Given the description of an element on the screen output the (x, y) to click on. 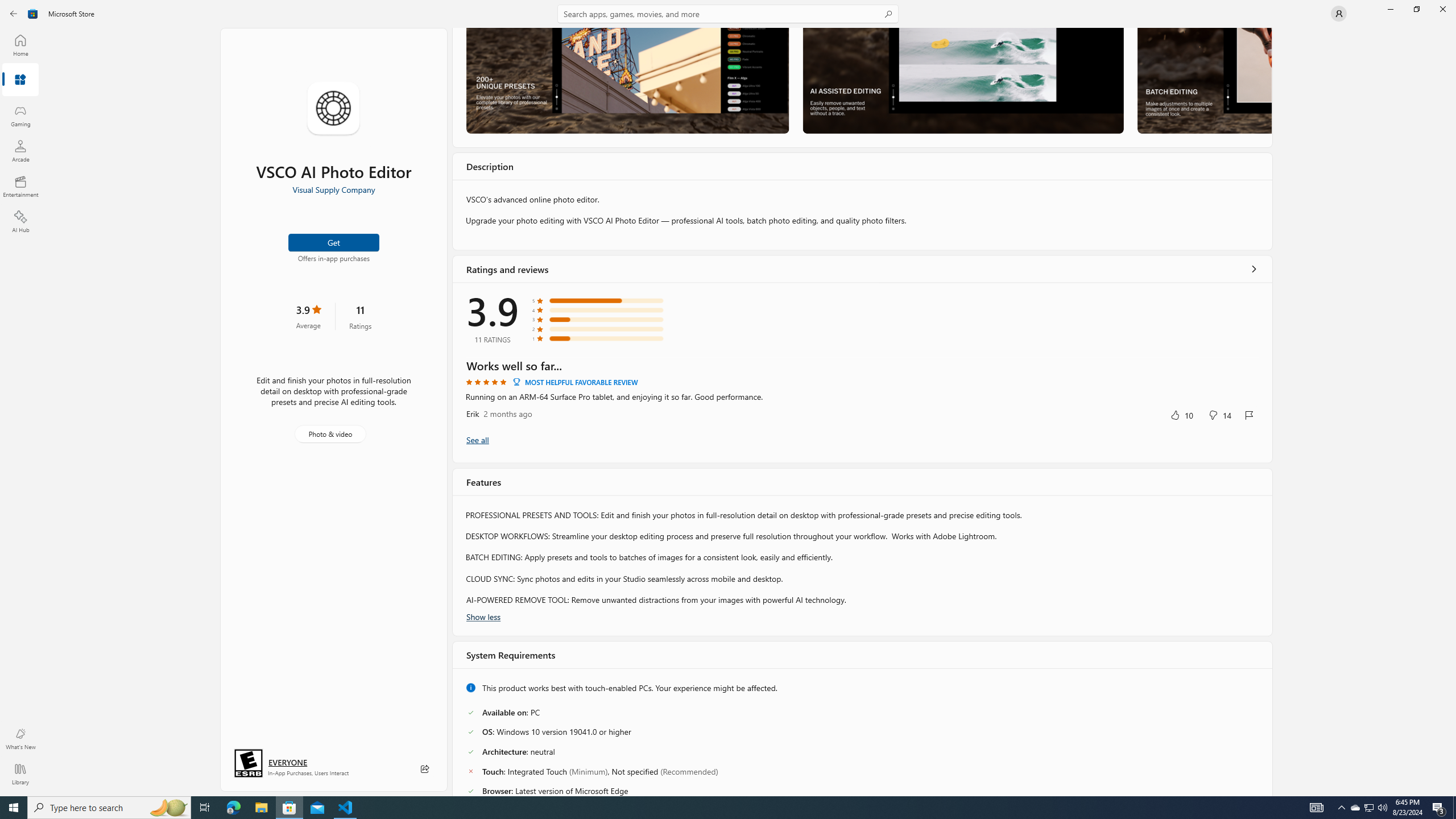
Yes, this was helpful. 10 votes. (1181, 414)
